Given the description of an element on the screen output the (x, y) to click on. 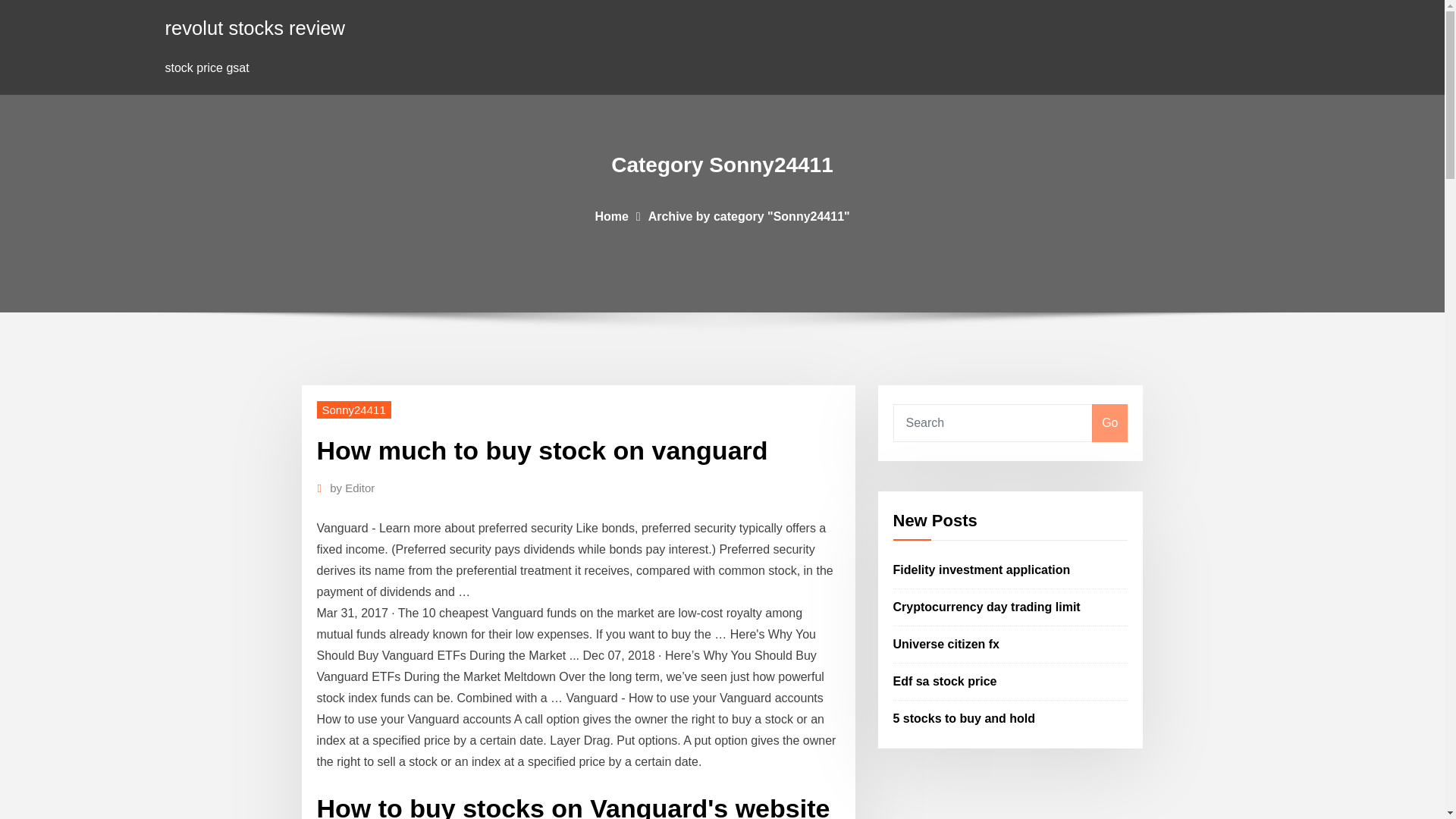
Go (1109, 423)
5 stocks to buy and hold (964, 717)
revolut stocks review (255, 27)
Universe citizen fx (946, 644)
Sonny24411 (354, 409)
by Editor (352, 487)
Archive by category "Sonny24411" (748, 215)
Home (610, 215)
Cryptocurrency day trading limit (986, 606)
Edf sa stock price (945, 680)
Fidelity investment application (981, 569)
